Given the description of an element on the screen output the (x, y) to click on. 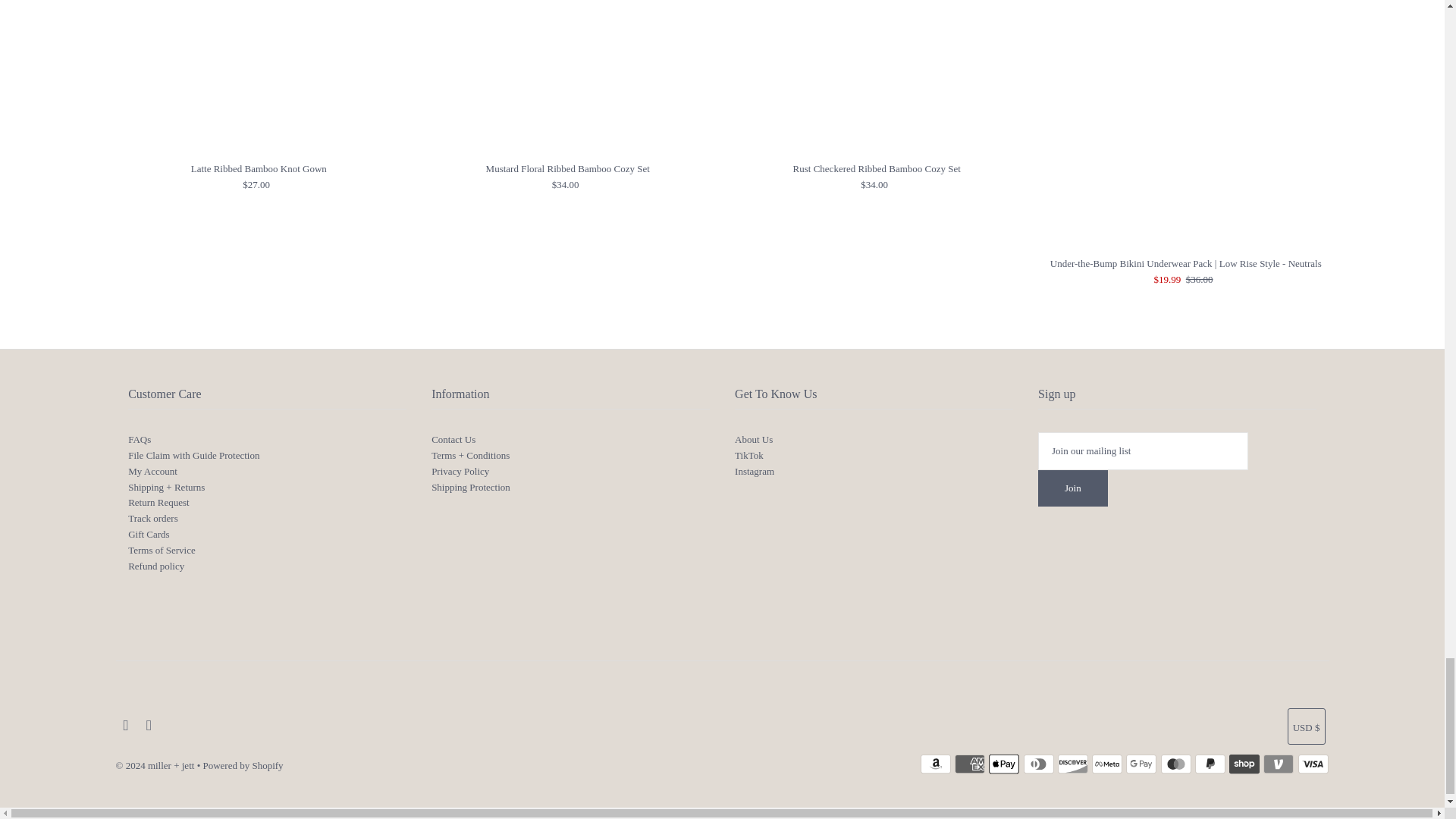
Apple Pay (1003, 763)
PayPal (1210, 763)
Visa (1312, 763)
Venmo (1278, 763)
Mastercard (1175, 763)
American Express (970, 763)
Google Pay (1140, 763)
Amazon (935, 763)
Discover (1072, 763)
Meta Pay (1107, 763)
Diners Club (1038, 763)
Join (1073, 488)
Shop Pay (1243, 763)
